Given the description of an element on the screen output the (x, y) to click on. 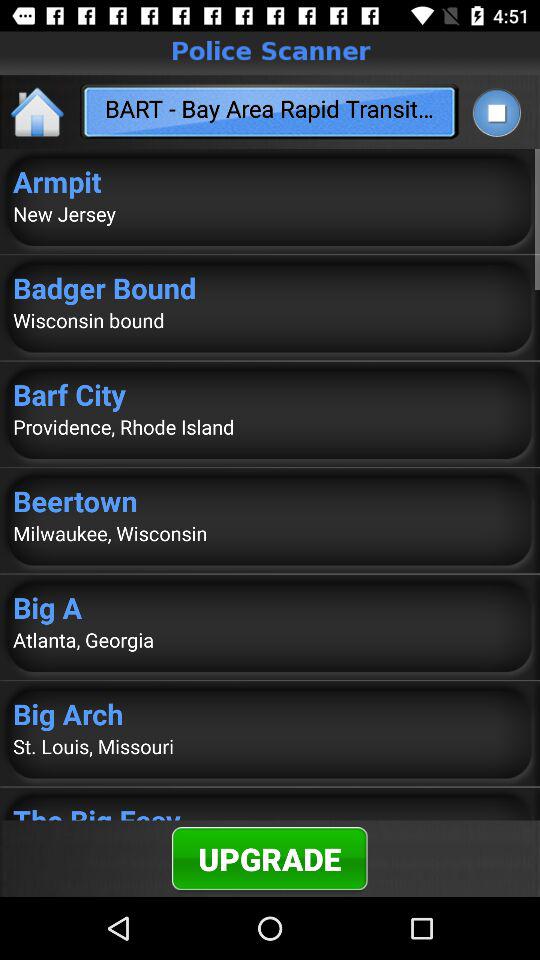
tap the icon above armpit app (496, 111)
